Given the description of an element on the screen output the (x, y) to click on. 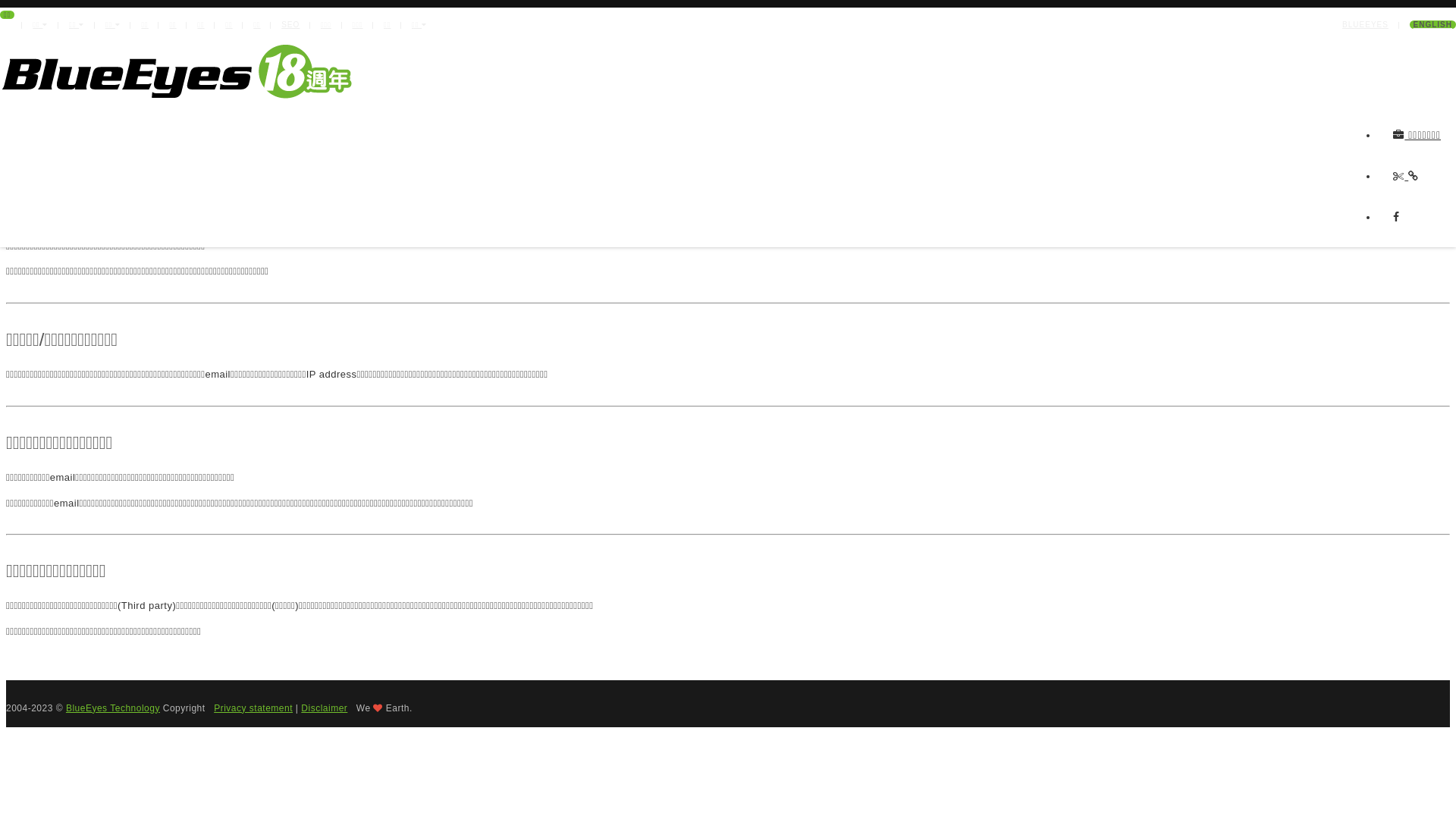
SEO Element type: text (290, 24)
Privacy statement Element type: text (252, 707)
BlueEyes Technology Element type: text (112, 707)
BLUEEYES Element type: text (1365, 24)
Disclaimer Element type: text (324, 707)
HOME Element type: text (1434, 155)
